Given the description of an element on the screen output the (x, y) to click on. 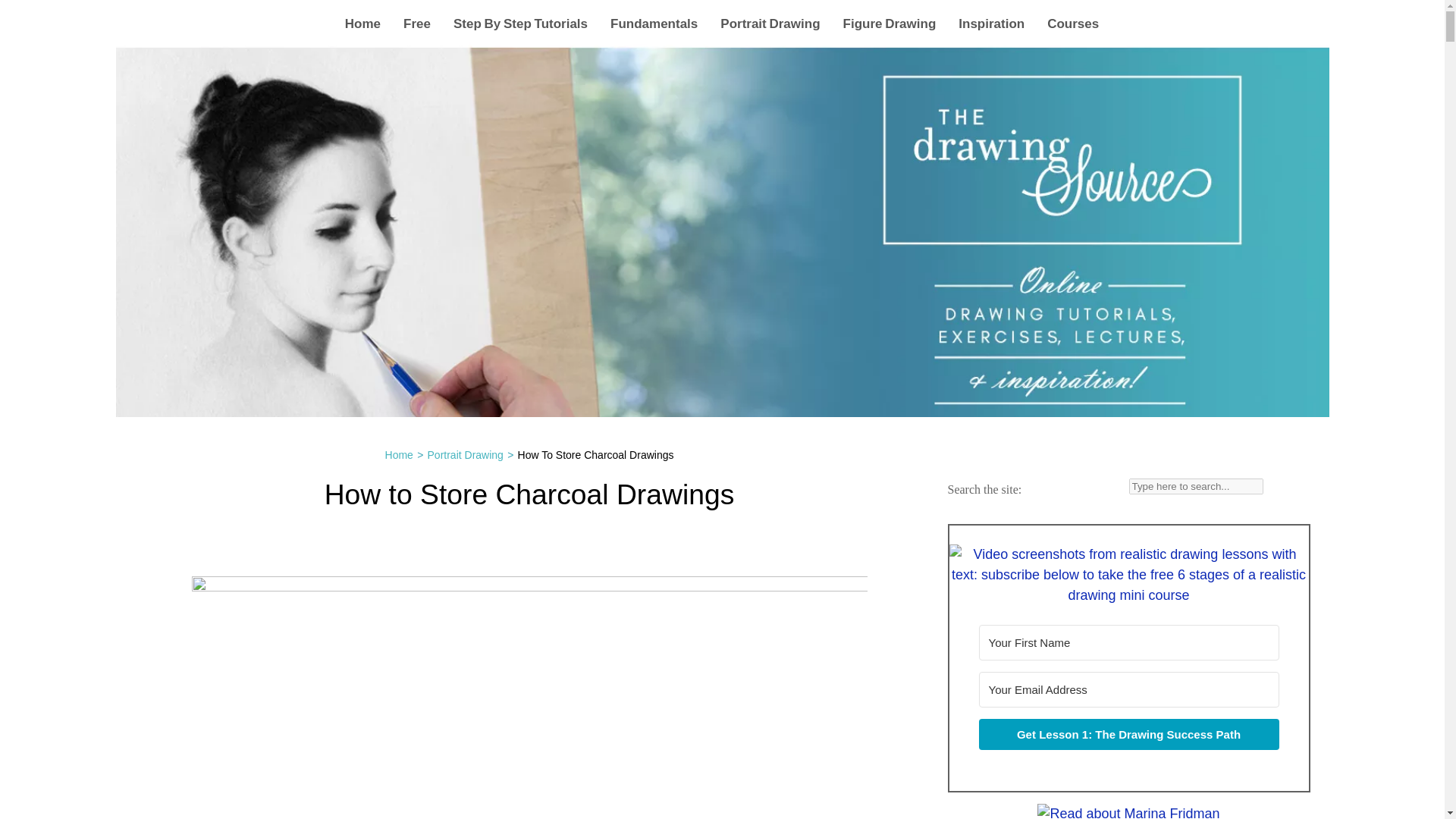
Portrait Drawing (465, 454)
Read about Marina Fridman (1128, 811)
Figure Drawing (889, 22)
Inspiration (991, 22)
Go to About The Drawing Source (1128, 812)
Home (362, 22)
Home (399, 454)
Get Lesson 1: The Drawing Success Path (1128, 734)
Portrait Drawing (770, 22)
